Given the description of an element on the screen output the (x, y) to click on. 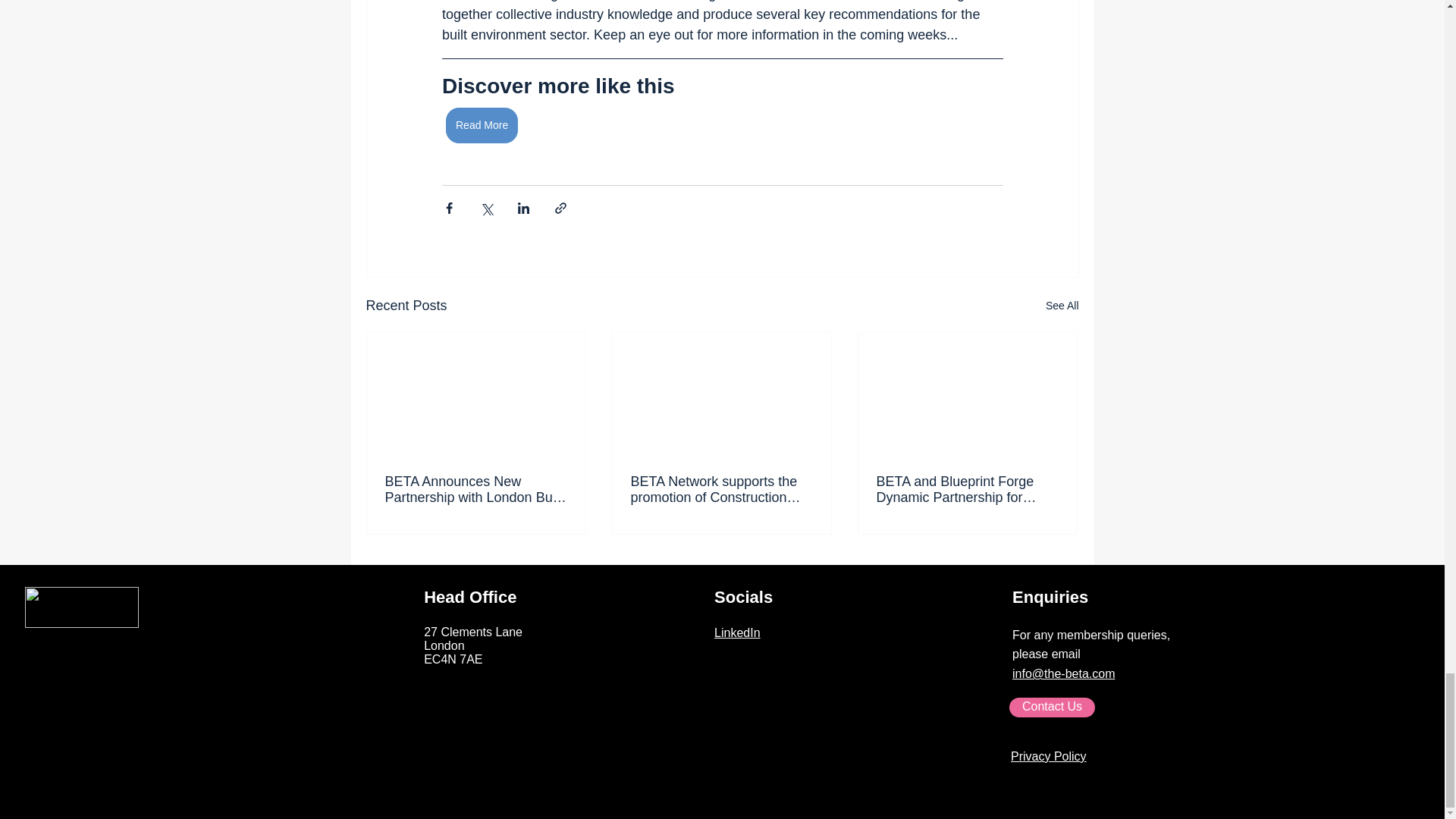
Beta logo tagline white.png (81, 607)
Privacy Policy (1048, 756)
Contact Us (1051, 707)
BETA Announces New Partnership with London Build Expo 2024! (476, 490)
See All (1061, 305)
BETA and Blueprint Forge Dynamic Partnership for Vegas 2024 (967, 490)
Read More (481, 125)
LinkedIn (737, 632)
